Given the description of an element on the screen output the (x, y) to click on. 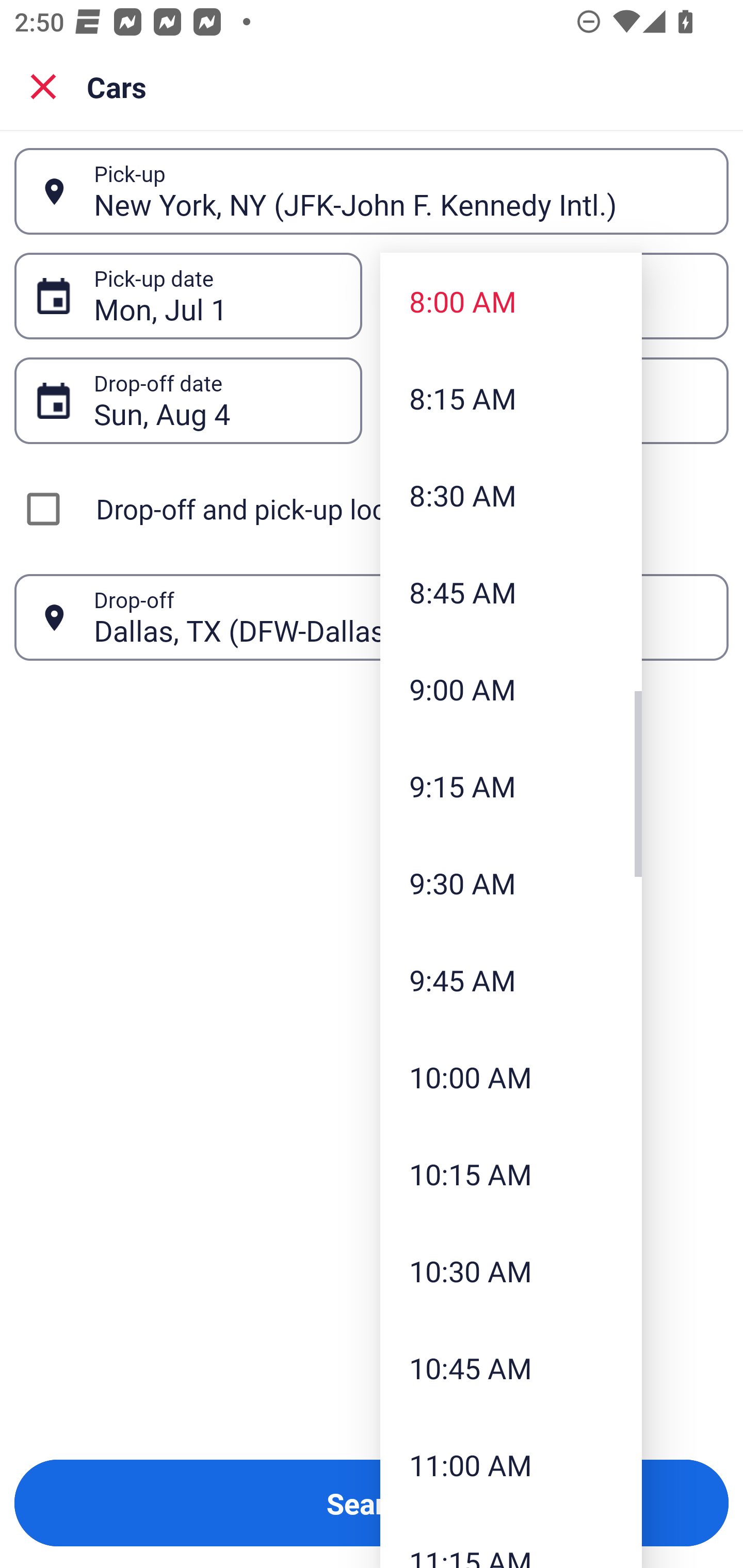
8:00 AM (510, 300)
8:15 AM (510, 397)
8:30 AM (510, 495)
8:45 AM (510, 592)
9:00 AM (510, 688)
9:15 AM (510, 785)
9:30 AM (510, 882)
9:45 AM (510, 979)
10:00 AM (510, 1076)
10:15 AM (510, 1174)
10:30 AM (510, 1270)
10:45 AM (510, 1366)
11:00 AM (510, 1464)
